Given the description of an element on the screen output the (x, y) to click on. 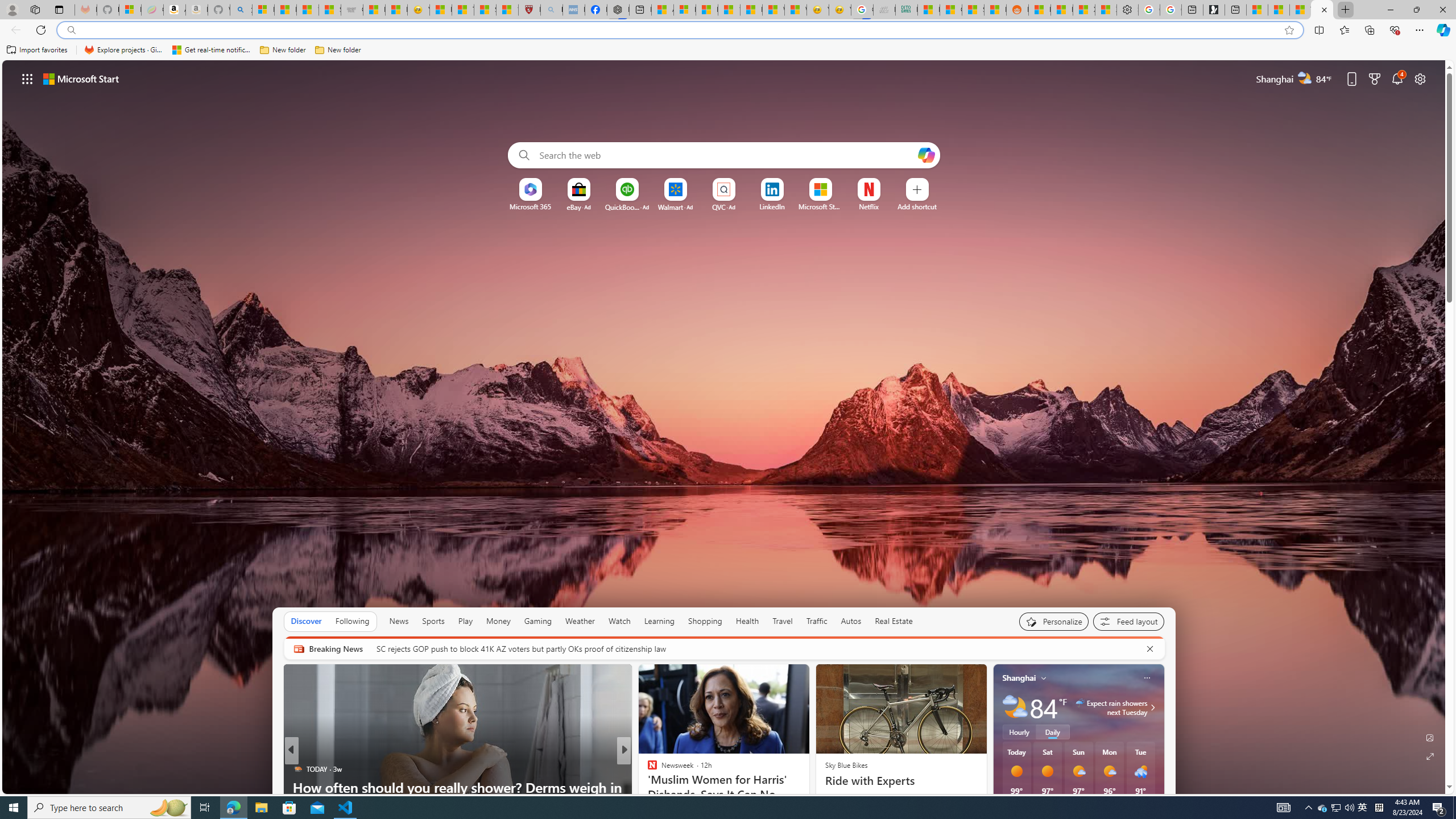
AutomationID: backgroundImagePicture (723, 426)
Traffic (816, 621)
Autos (851, 621)
DITOGAMES AG Imprint (907, 9)
Microsoft start (81, 78)
Microsoft Start Gaming (1214, 9)
Sports (432, 621)
